Given the description of an element on the screen output the (x, y) to click on. 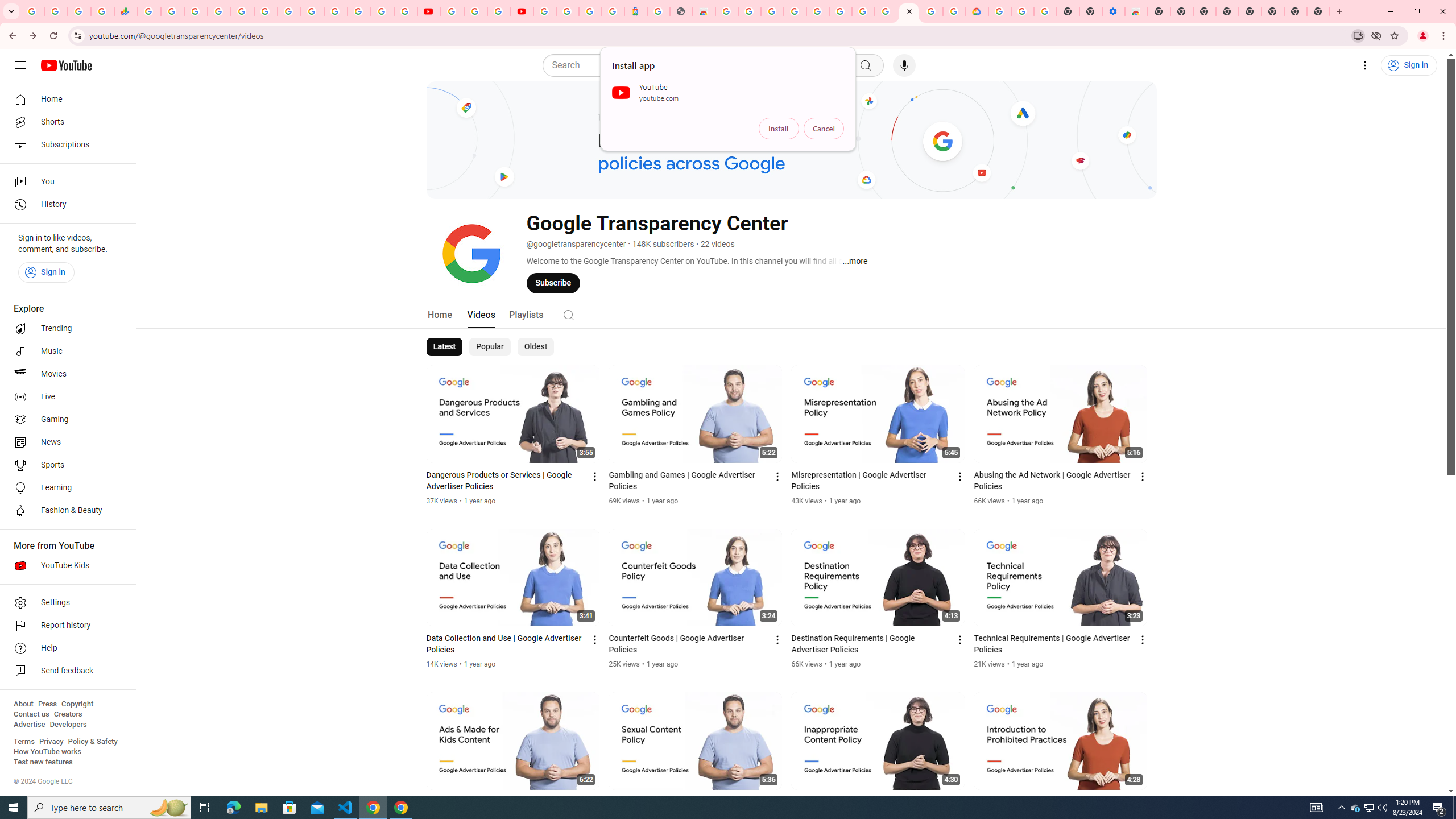
History (64, 204)
Contact us (31, 714)
Sign in - Google Accounts (567, 11)
Subscriptions (64, 144)
New Tab (1158, 11)
Copyright (77, 703)
Install (778, 128)
Cancel (823, 128)
About (23, 703)
